Given the description of an element on the screen output the (x, y) to click on. 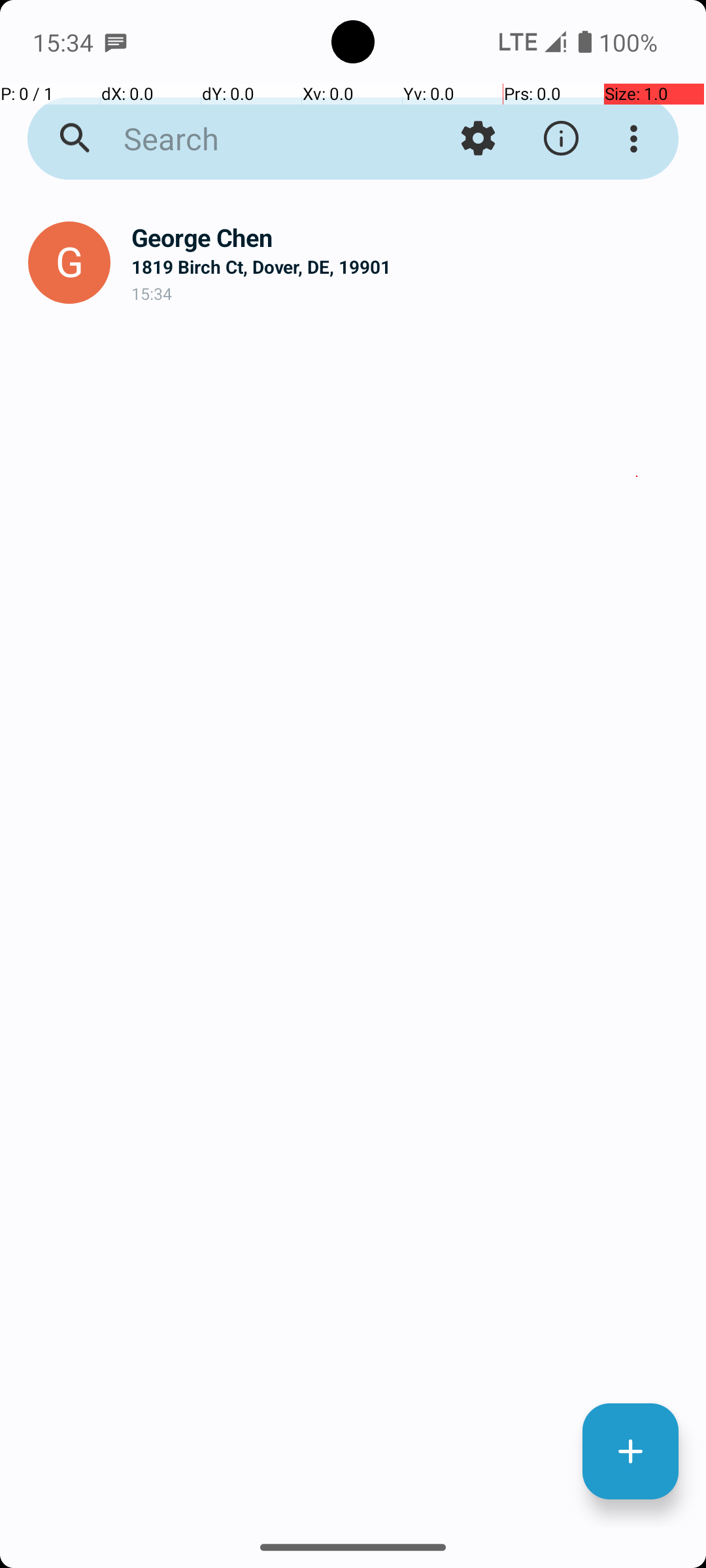
George Chen Element type: android.widget.TextView (408, 237)
1819 Birch Ct, Dover, DE, 19901 Element type: android.widget.TextView (408, 266)
SMS Messenger notification: George Chen Element type: android.widget.ImageView (115, 41)
